Given the description of an element on the screen output the (x, y) to click on. 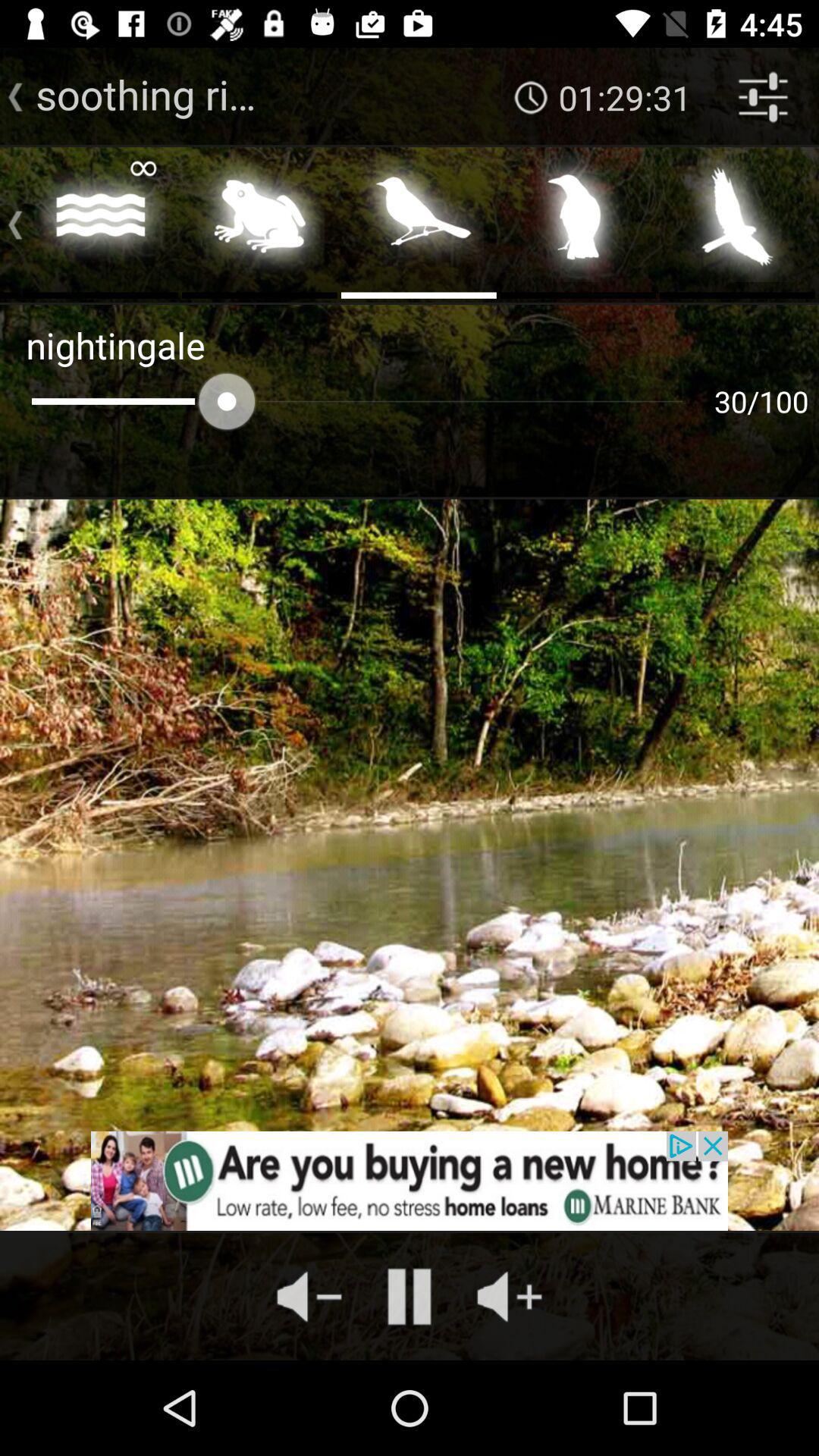
play water sound (100, 221)
